Given the description of an element on the screen output the (x, y) to click on. 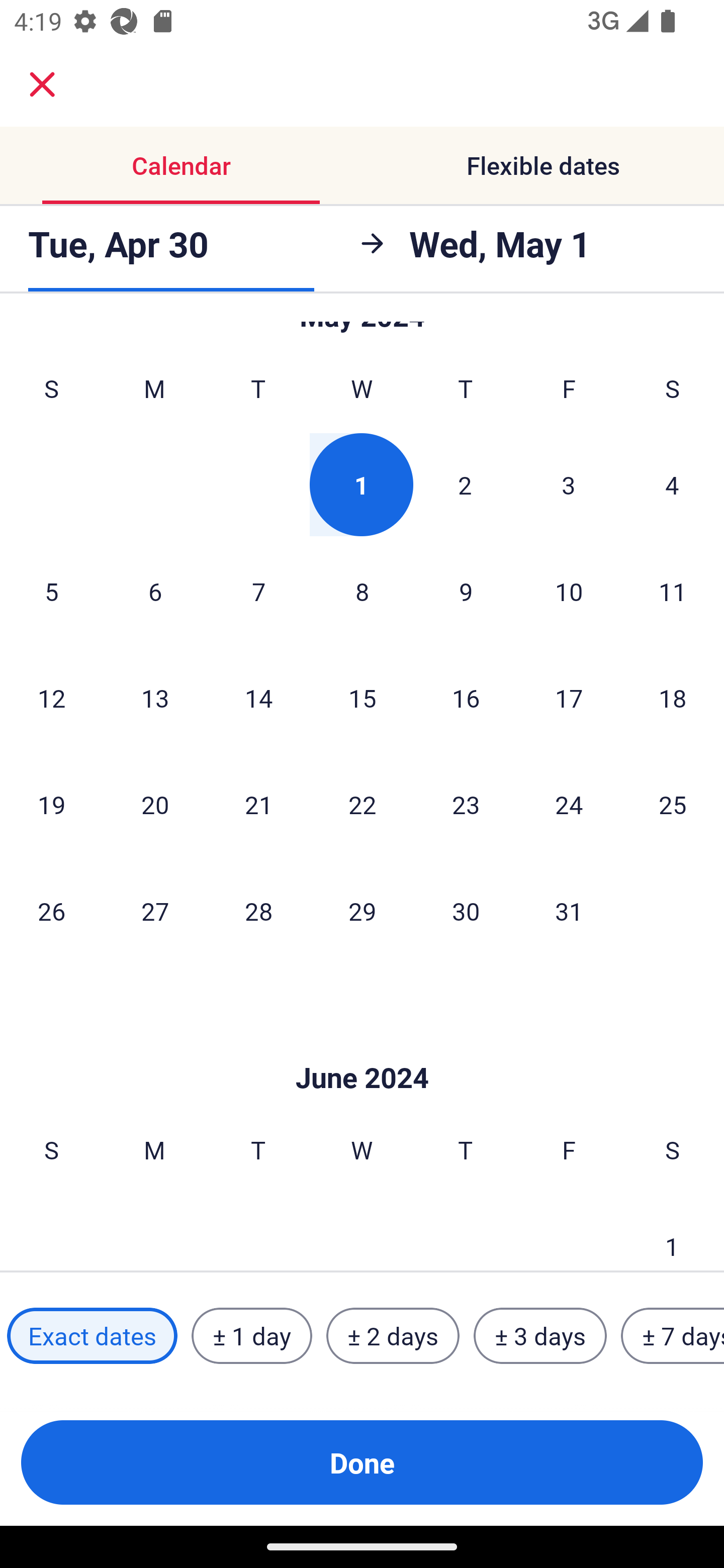
close. (42, 84)
Flexible dates (542, 164)
2 Thursday, May 2, 2024 (464, 484)
3 Friday, May 3, 2024 (568, 484)
4 Saturday, May 4, 2024 (672, 484)
5 Sunday, May 5, 2024 (51, 590)
6 Monday, May 6, 2024 (155, 590)
7 Tuesday, May 7, 2024 (258, 590)
8 Wednesday, May 8, 2024 (362, 590)
9 Thursday, May 9, 2024 (465, 590)
10 Friday, May 10, 2024 (569, 590)
11 Saturday, May 11, 2024 (672, 590)
12 Sunday, May 12, 2024 (51, 697)
13 Monday, May 13, 2024 (155, 697)
14 Tuesday, May 14, 2024 (258, 697)
15 Wednesday, May 15, 2024 (362, 697)
16 Thursday, May 16, 2024 (465, 697)
17 Friday, May 17, 2024 (569, 697)
18 Saturday, May 18, 2024 (672, 697)
19 Sunday, May 19, 2024 (51, 804)
20 Monday, May 20, 2024 (155, 804)
21 Tuesday, May 21, 2024 (258, 804)
22 Wednesday, May 22, 2024 (362, 804)
23 Thursday, May 23, 2024 (465, 804)
24 Friday, May 24, 2024 (569, 804)
25 Saturday, May 25, 2024 (672, 804)
26 Sunday, May 26, 2024 (51, 910)
27 Monday, May 27, 2024 (155, 910)
28 Tuesday, May 28, 2024 (258, 910)
29 Wednesday, May 29, 2024 (362, 910)
30 Thursday, May 30, 2024 (465, 910)
31 Friday, May 31, 2024 (569, 910)
Skip to Done (362, 1047)
1 Saturday, June 1, 2024 (672, 1232)
Exact dates (92, 1335)
± 1 day (251, 1335)
± 2 days (392, 1335)
± 3 days (539, 1335)
± 7 days (672, 1335)
Done (361, 1462)
